Given the description of an element on the screen output the (x, y) to click on. 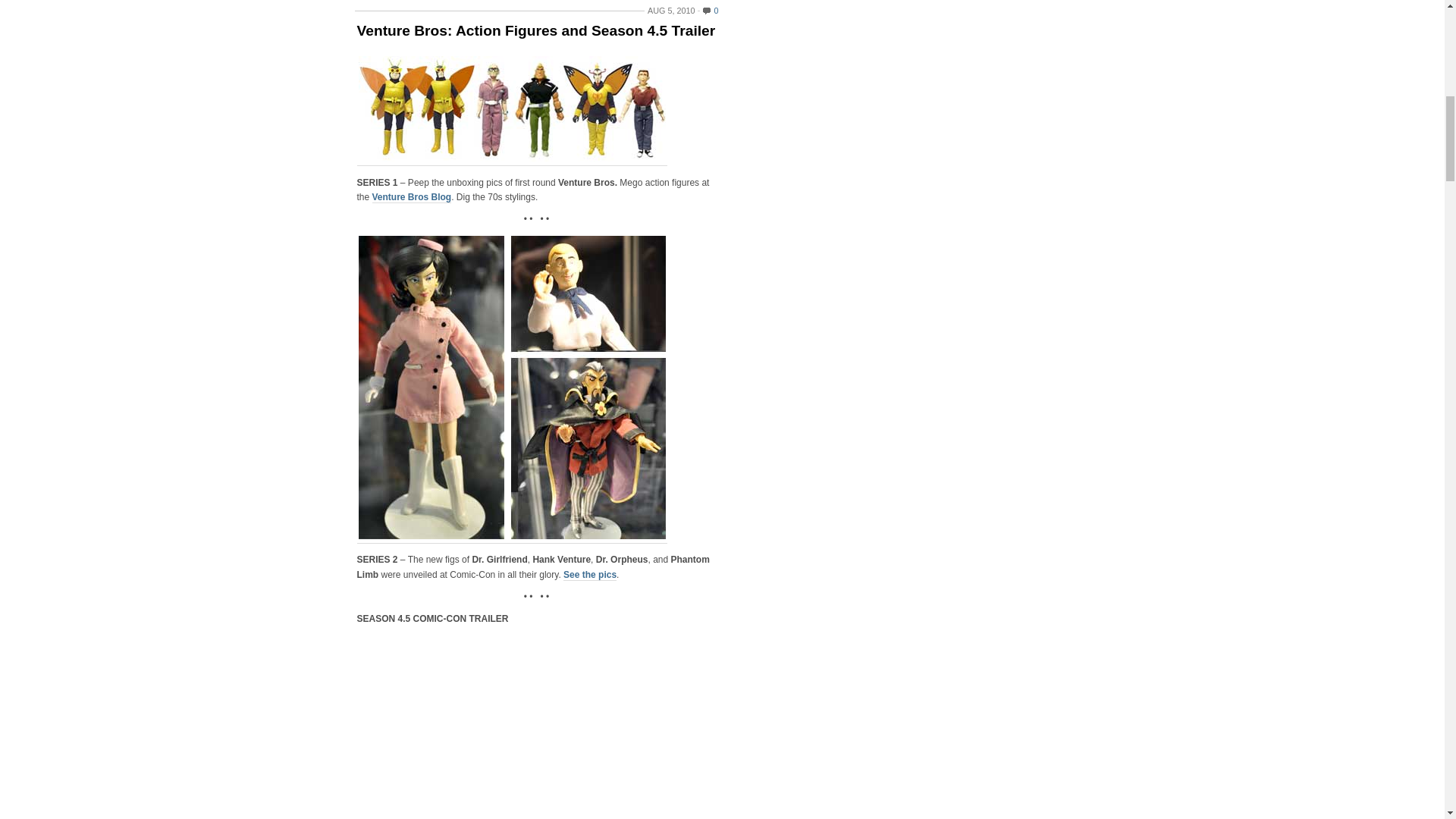
Venture Bros Blog (411, 197)
venture bros. figures series 2 (511, 387)
See Venture Bros. Figures Unboxing (511, 108)
Venture Bros: Action Figures and Season 4.5 Trailer (536, 30)
New Venture Bros Action Figures (589, 574)
See the pics (589, 574)
Venture Bros: Action Figures and Season 4.5 Trailer (536, 30)
Venture Bros Action Figure Unboxing (411, 197)
